Given the description of an element on the screen output the (x, y) to click on. 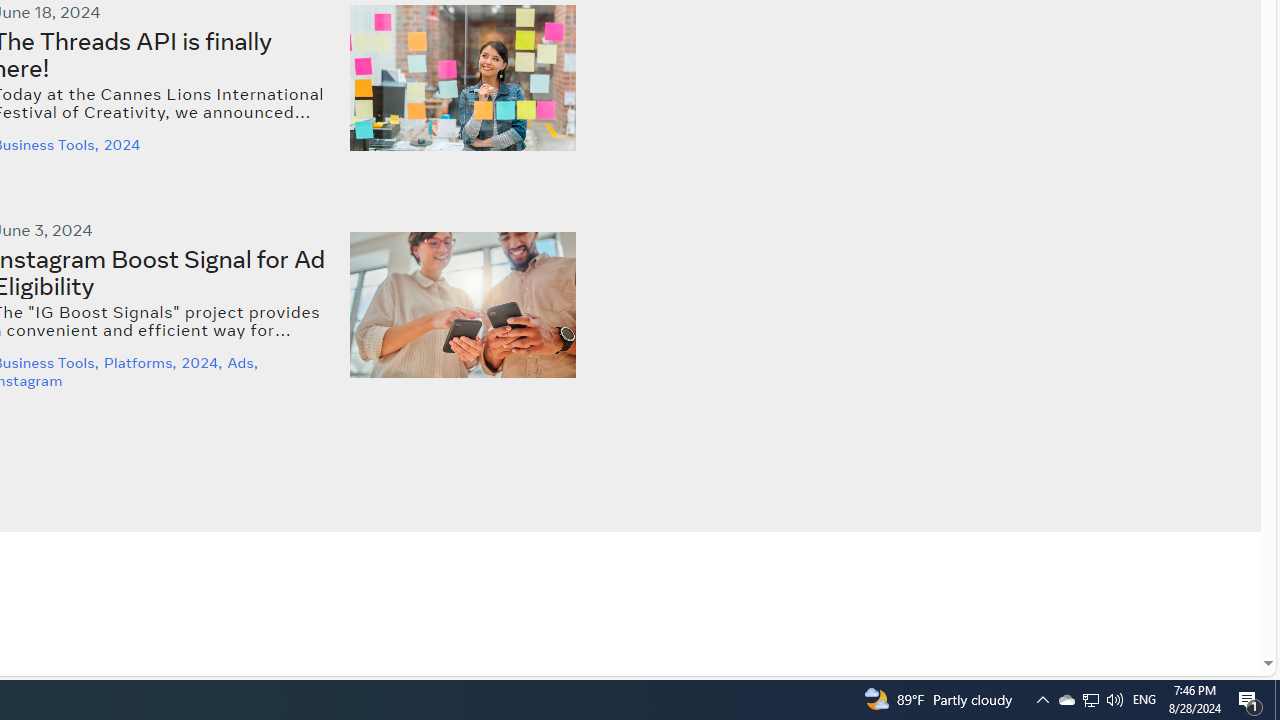
2024 (123, 145)
2024, (203, 363)
Platforms, (141, 363)
Ads, (244, 363)
